Given the description of an element on the screen output the (x, y) to click on. 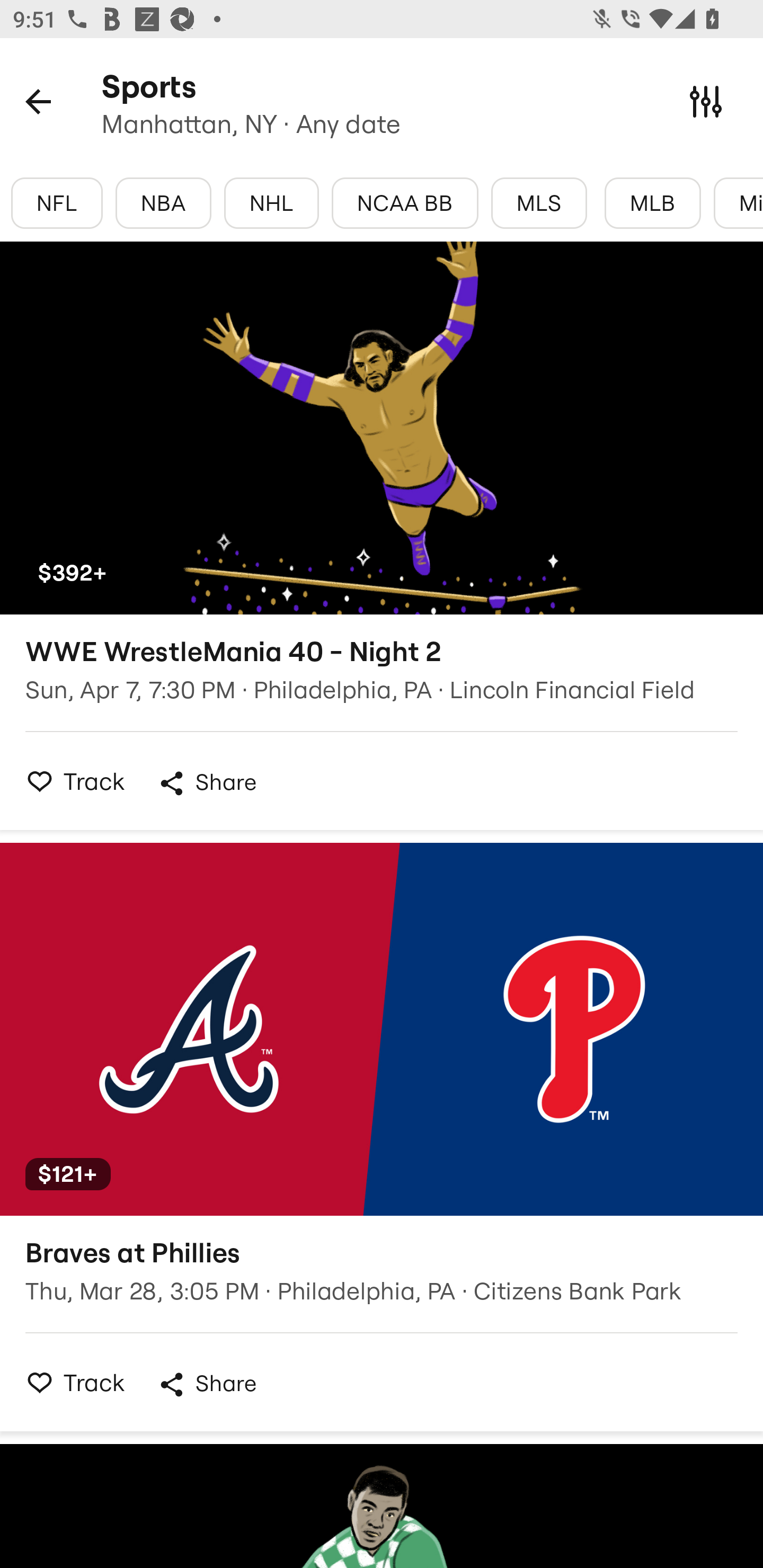
Back (38, 100)
Filters (705, 100)
NFL (57, 202)
NBA (163, 202)
NHL (271, 202)
NCAA BB (404, 202)
MLS (538, 202)
MLB (652, 202)
Track (70, 780)
Share (207, 783)
Track (70, 1381)
Share (207, 1384)
